Given the description of an element on the screen output the (x, y) to click on. 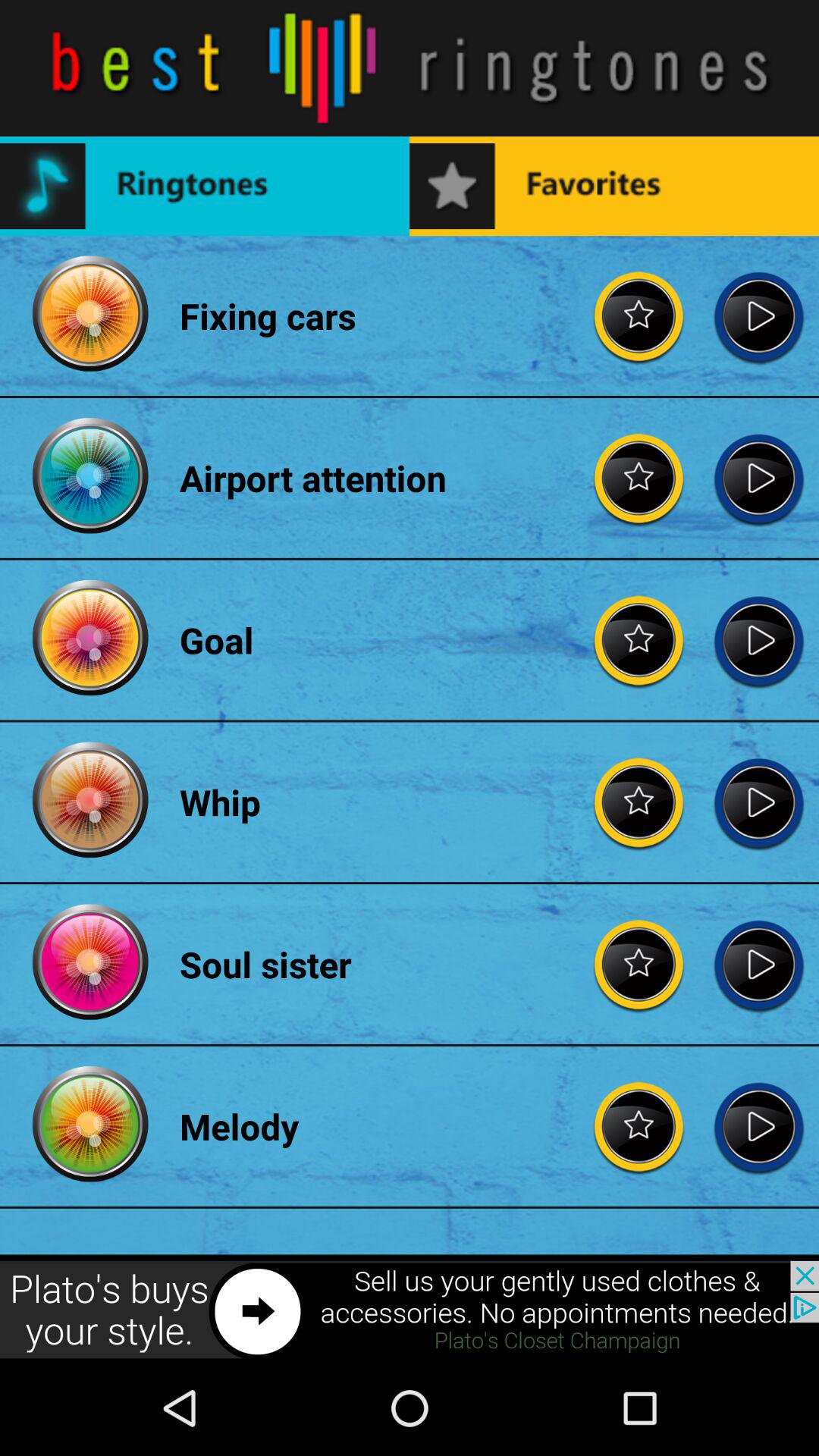
mark as favorite ringtone (639, 477)
